Given the description of an element on the screen output the (x, y) to click on. 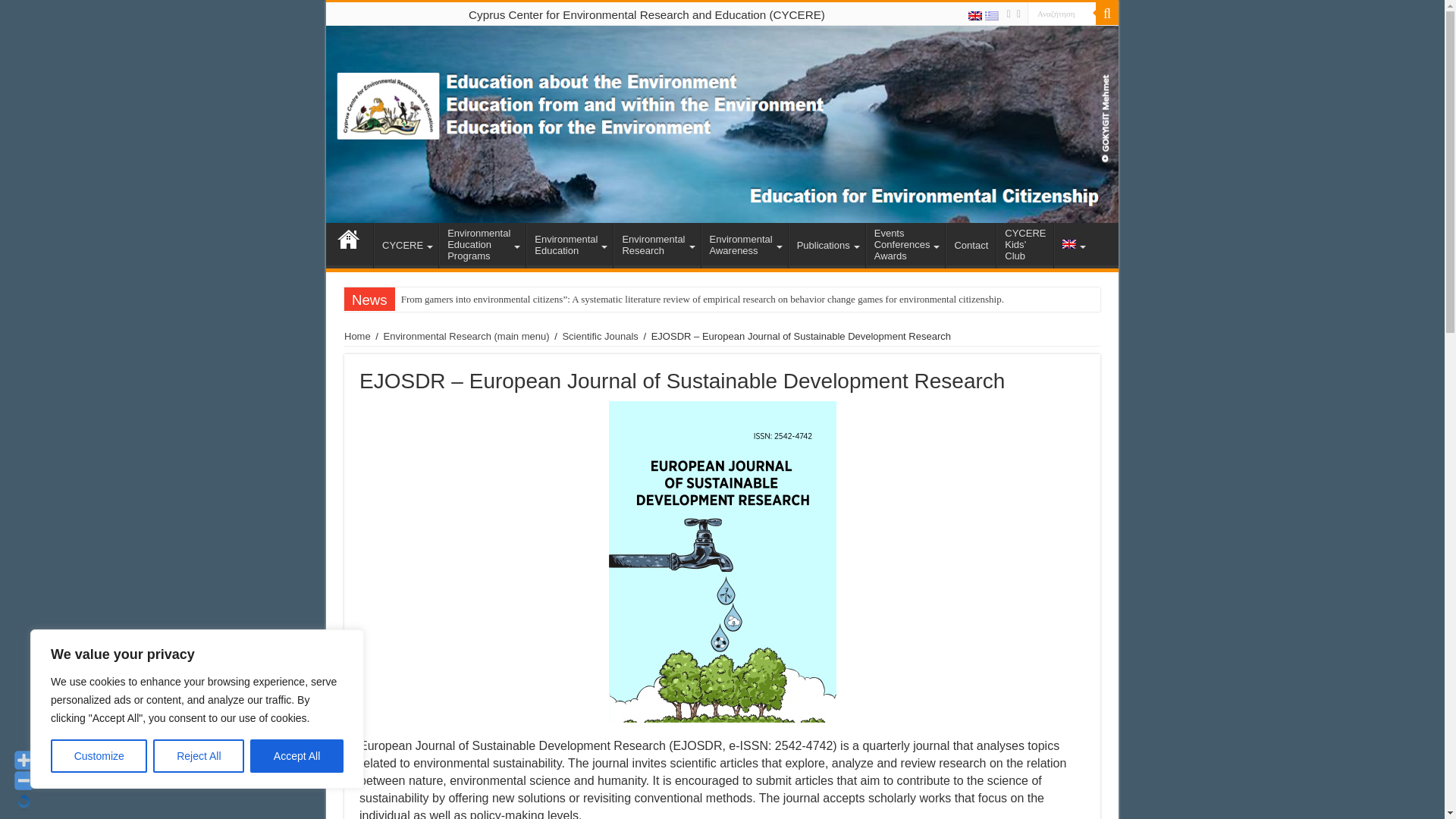
Customize (98, 756)
Accept All (296, 756)
Reject All (198, 756)
